Given the description of an element on the screen output the (x, y) to click on. 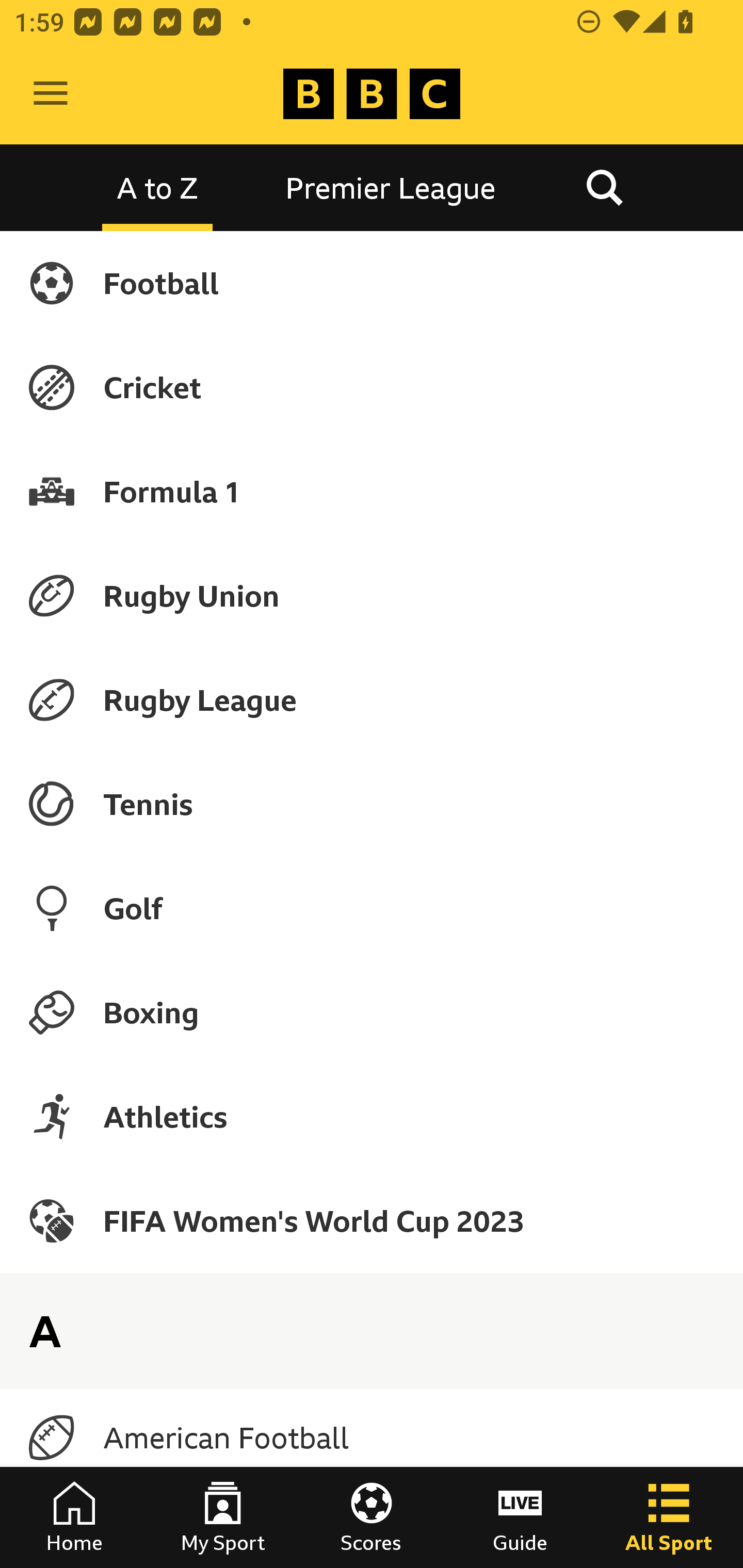
Open Menu (50, 93)
Premier League (390, 187)
Search (604, 187)
Football (371, 282)
Cricket (371, 387)
Formula 1 (371, 491)
Rugby Union (371, 595)
Rugby League (371, 699)
Tennis (371, 804)
Golf (371, 907)
Boxing (371, 1011)
Athletics (371, 1116)
FIFA Women's World Cup 2023 (371, 1220)
American Football (371, 1437)
Home (74, 1517)
My Sport (222, 1517)
Scores (371, 1517)
Guide (519, 1517)
